Given the description of an element on the screen output the (x, y) to click on. 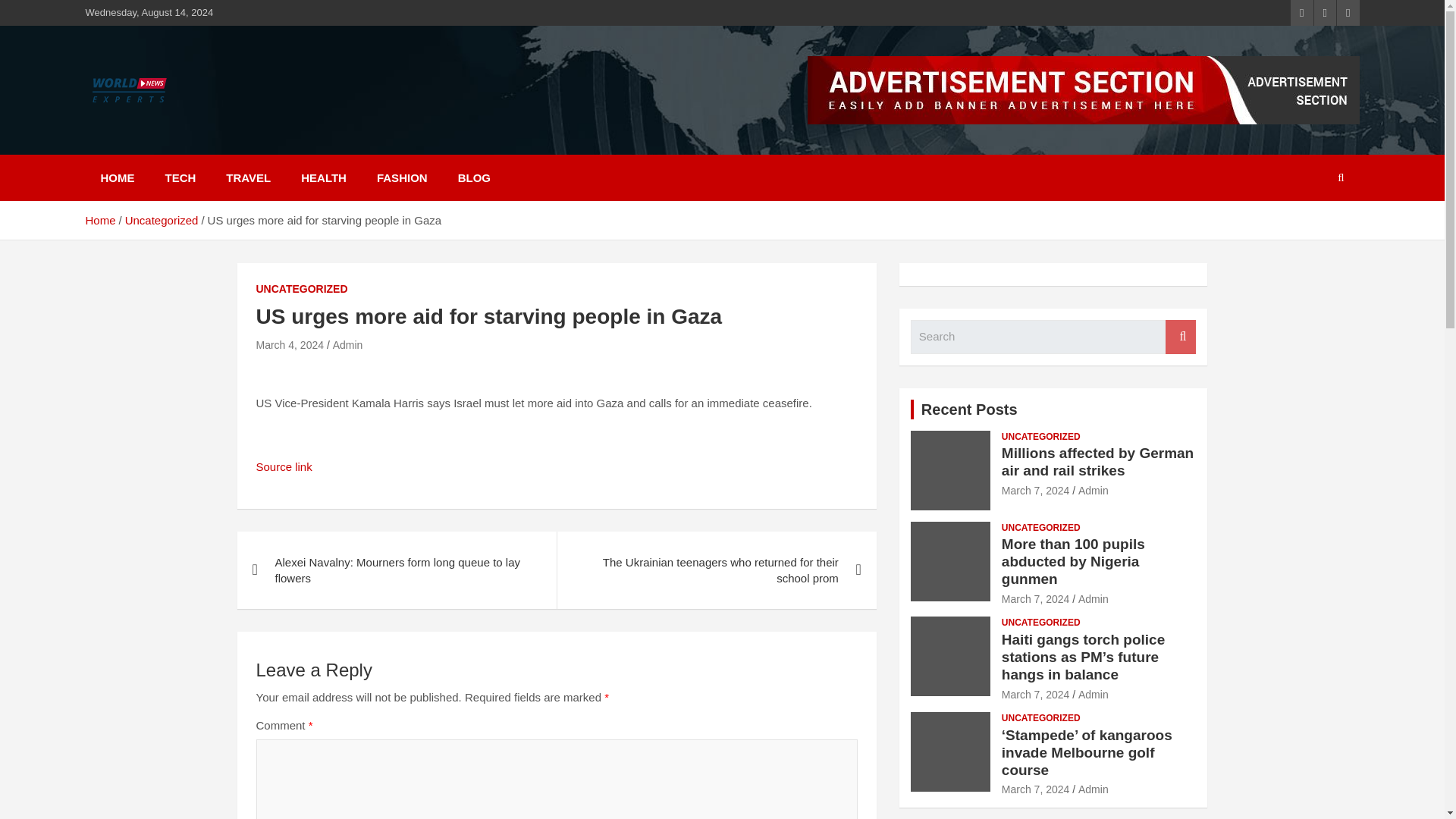
Millions affected by German air and rail strikes (1097, 461)
Recent Posts (969, 409)
Millions affected by German air and rail strikes (1035, 490)
More than 100 pupils abducted by Nigeria gunmen (1035, 598)
Admin (1093, 490)
March 7, 2024 (1035, 490)
Alexei Navalny: Mourners form long queue to lay flowers (395, 570)
Uncategorized (161, 219)
US urges more aid for starving people in Gaza (290, 345)
Home (99, 219)
